Given the description of an element on the screen output the (x, y) to click on. 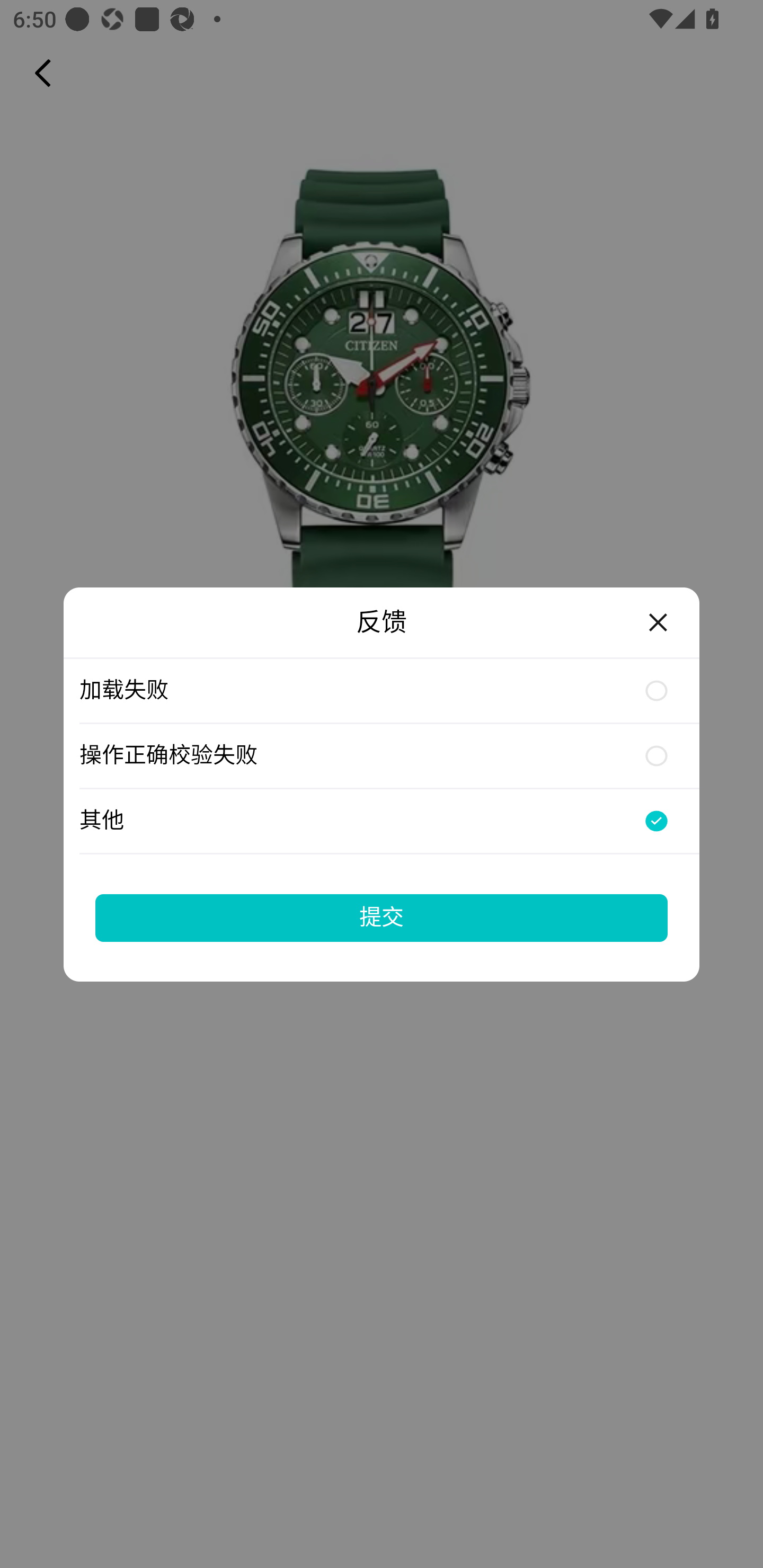
提交 (381, 917)
